Given the description of an element on the screen output the (x, y) to click on. 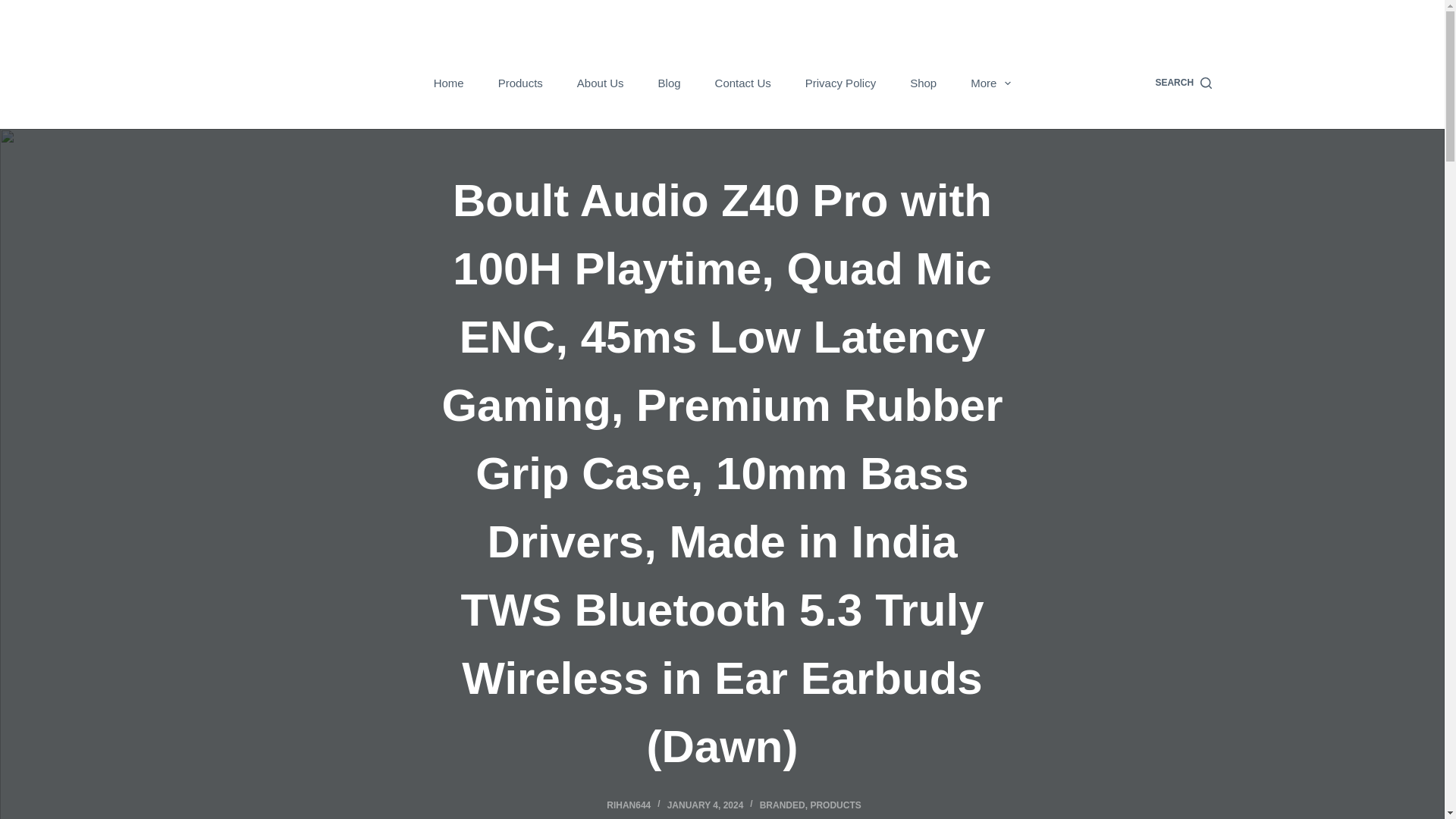
Posts by rihan644 (628, 805)
Skip to content (15, 7)
